Given the description of an element on the screen output the (x, y) to click on. 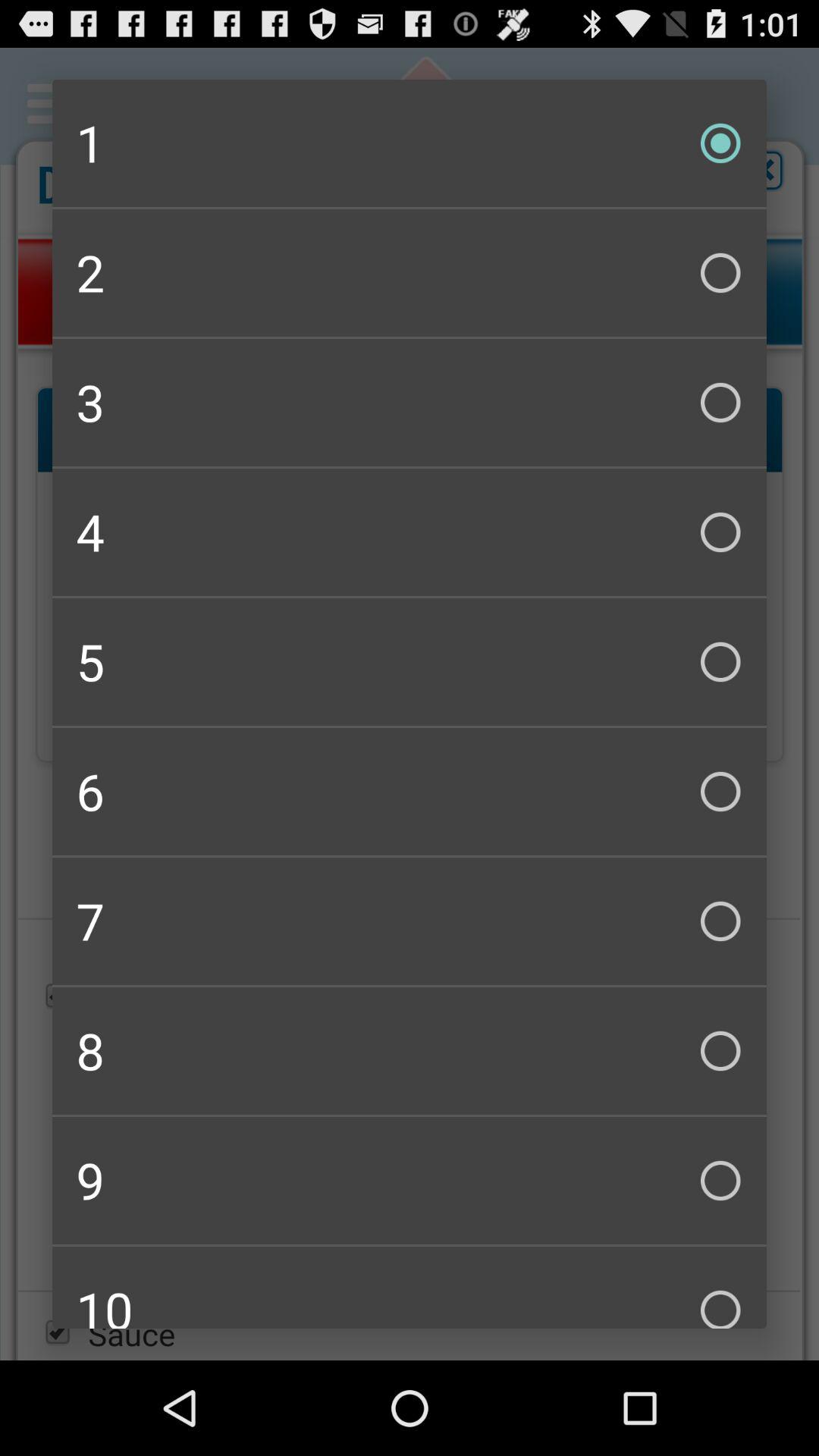
swipe until 9 checkbox (409, 1180)
